Given the description of an element on the screen output the (x, y) to click on. 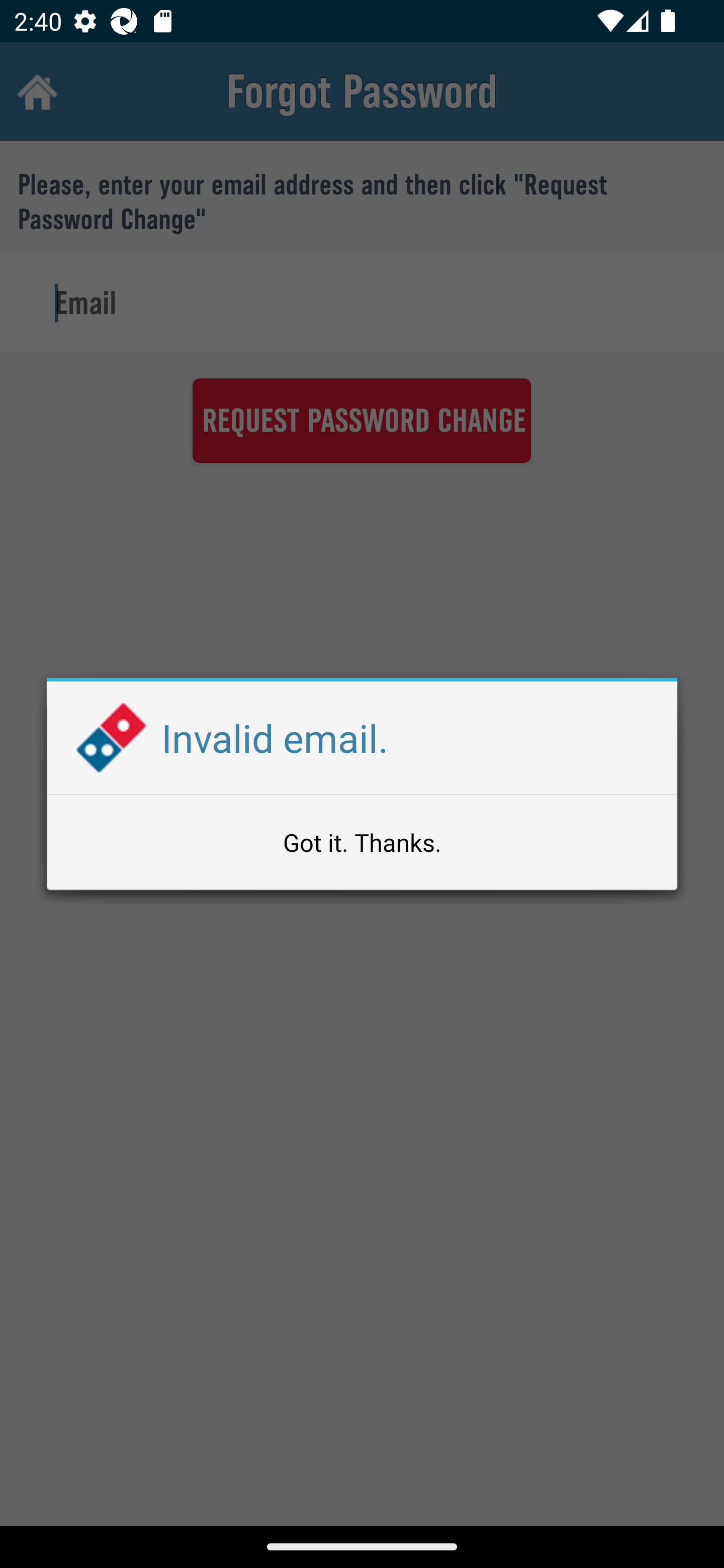
Got it. Thanks. (361, 842)
